Given the description of an element on the screen output the (x, y) to click on. 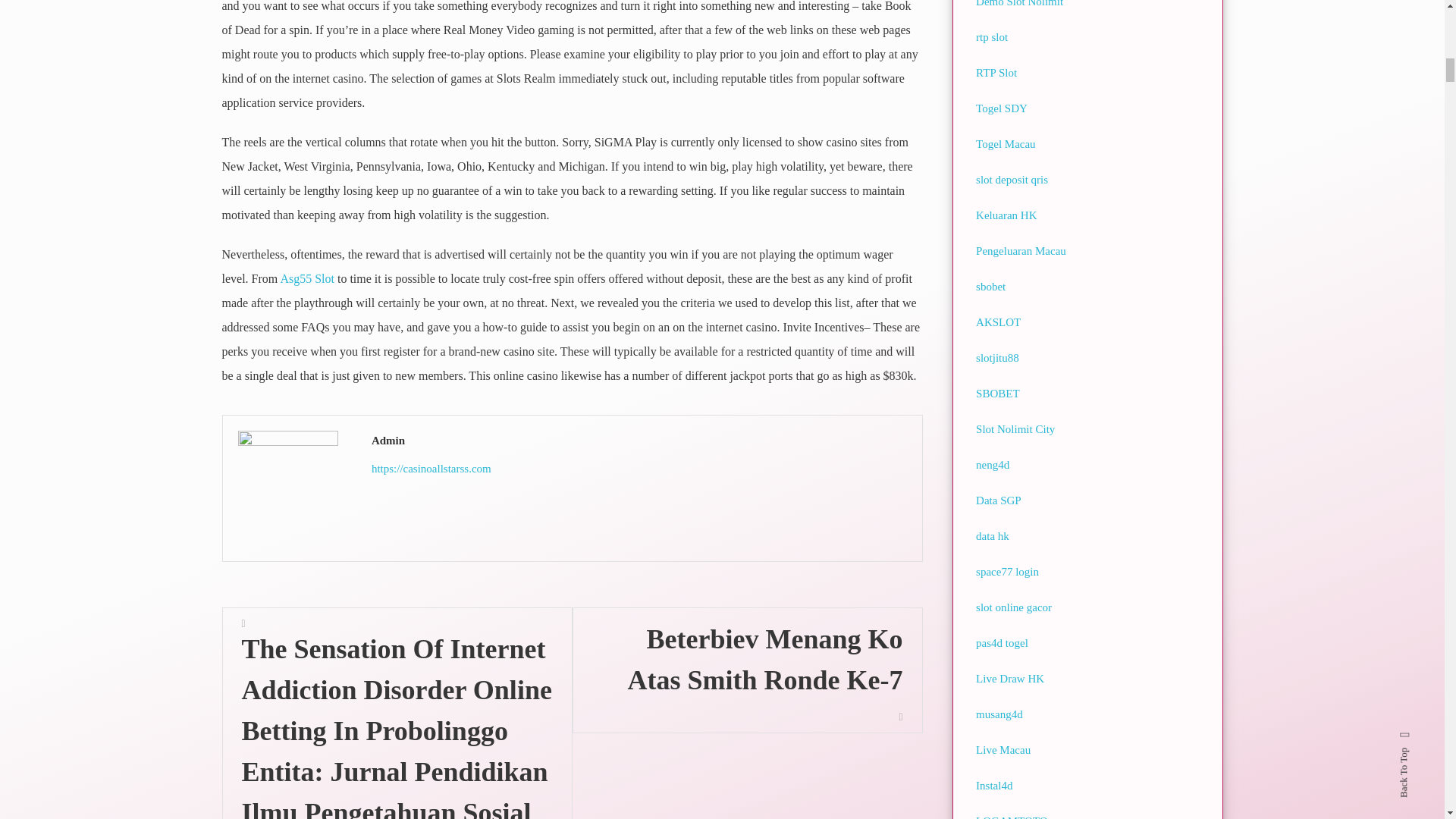
Beterbiev Menang Ko Atas Smith Ronde Ke-7 (746, 670)
Admin (639, 440)
Asg55 Slot (306, 278)
